Given the description of an element on the screen output the (x, y) to click on. 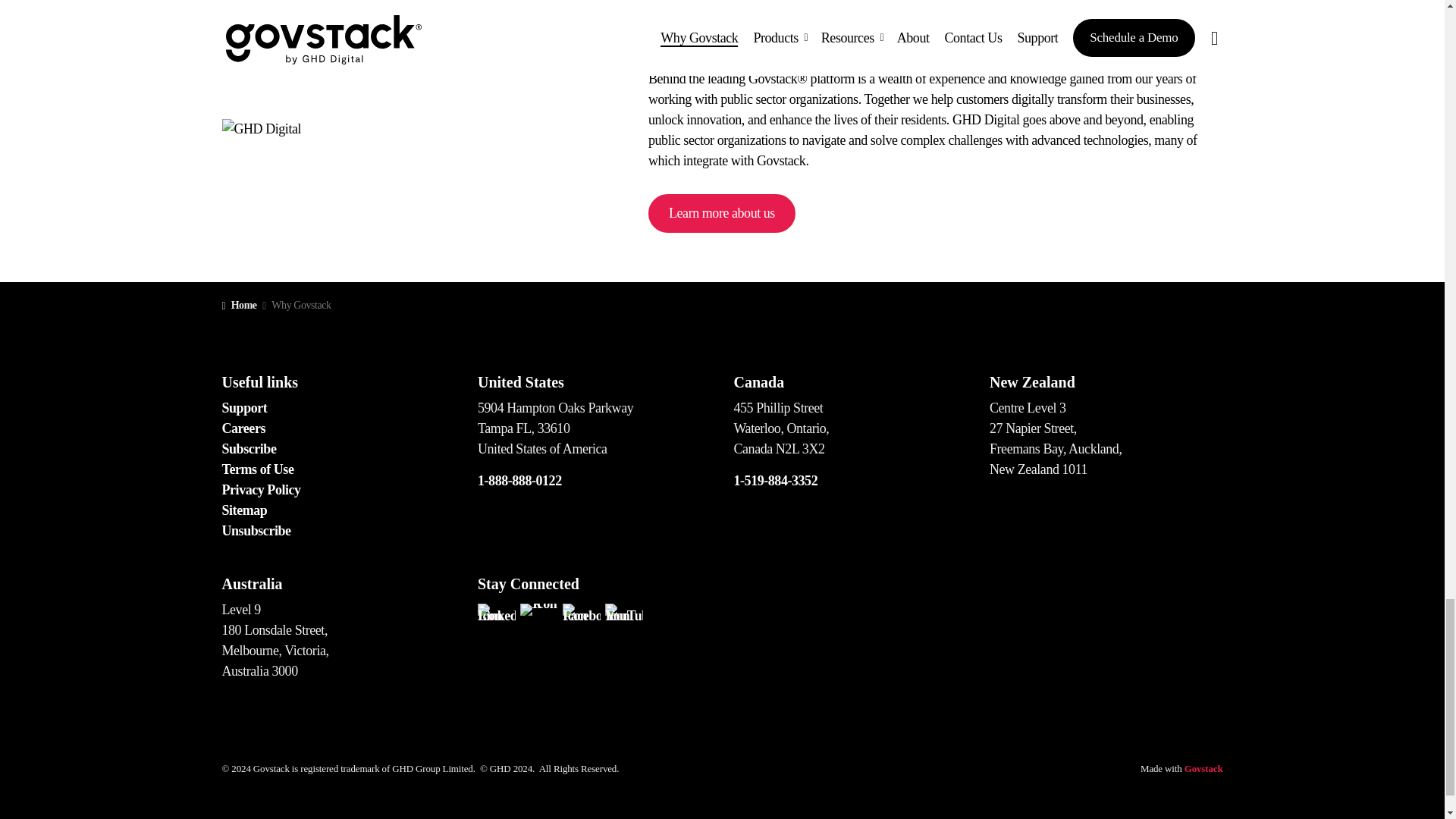
Unsubscribe (255, 530)
Terms of Use (257, 468)
Home (238, 304)
Support (243, 407)
Sitemap (243, 509)
Careers (242, 427)
Sitemap (243, 509)
Subscribe (248, 448)
Privacy Policy (260, 489)
Terms of Use (257, 468)
Support (243, 407)
Privacy Policy (260, 489)
Learn more about us (720, 213)
Subscribe (248, 448)
